Given the description of an element on the screen output the (x, y) to click on. 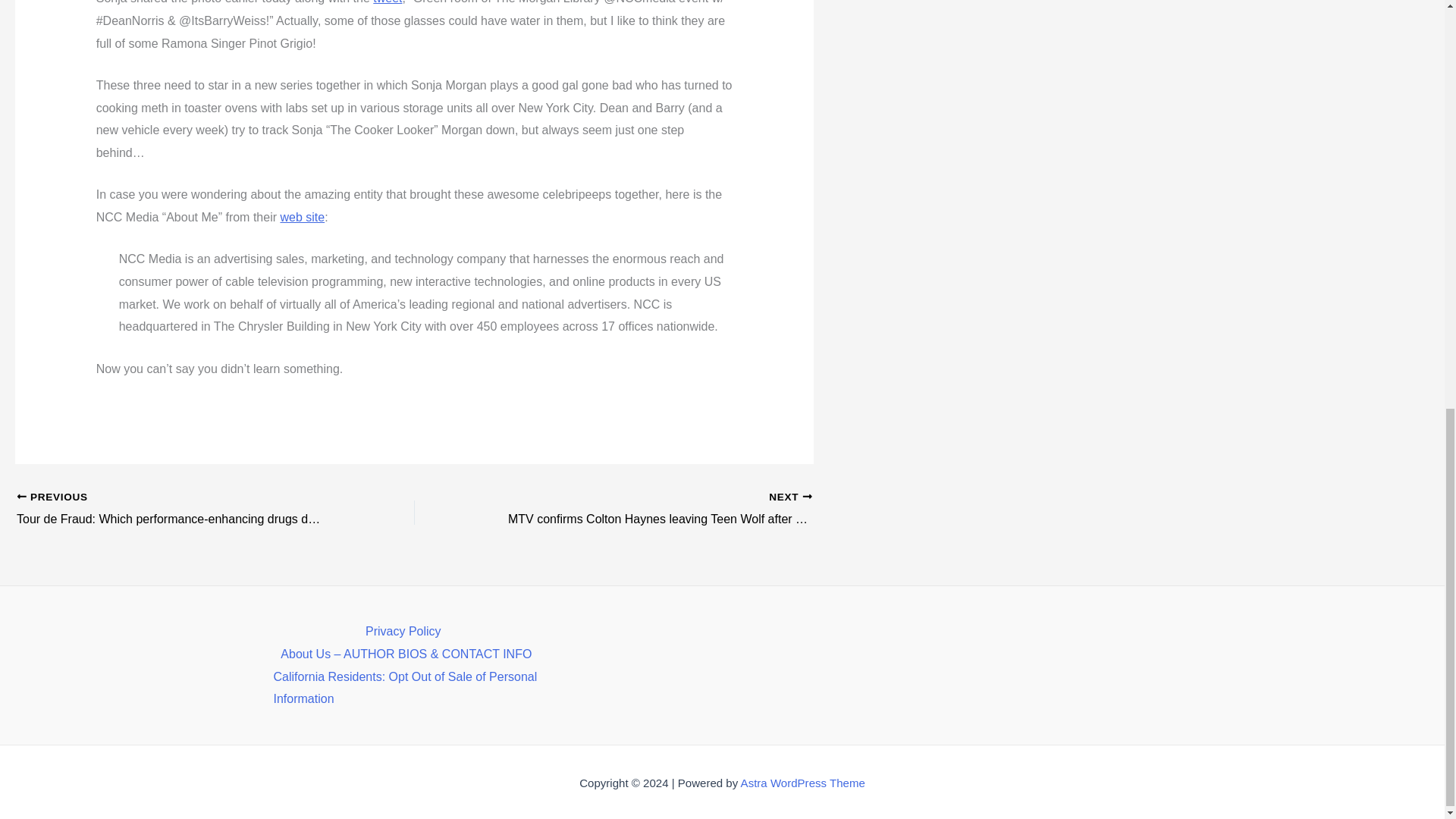
MTV confirms Colton Haynes leaving Teen Wolf after season 2 (652, 509)
tweet (386, 2)
